Given the description of an element on the screen output the (x, y) to click on. 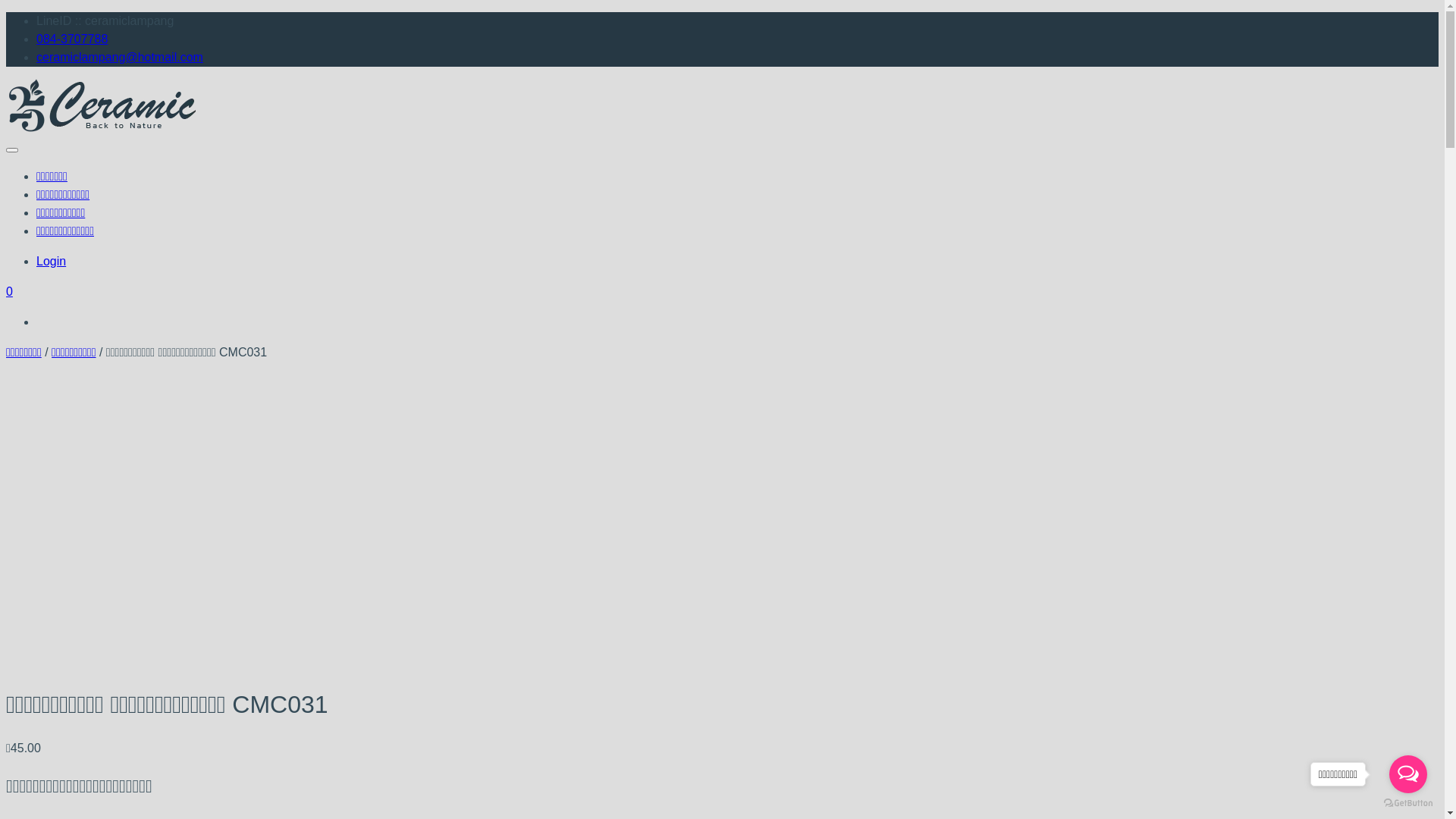
Skip to content Element type: text (5, 11)
0 Element type: text (9, 291)
084-3707788 Element type: text (71, 38)
Login Element type: text (50, 260)
ceramiclampang@hotmail.com Element type: text (119, 56)
Primary Menu Element type: text (12, 149)
